Given the description of an element on the screen output the (x, y) to click on. 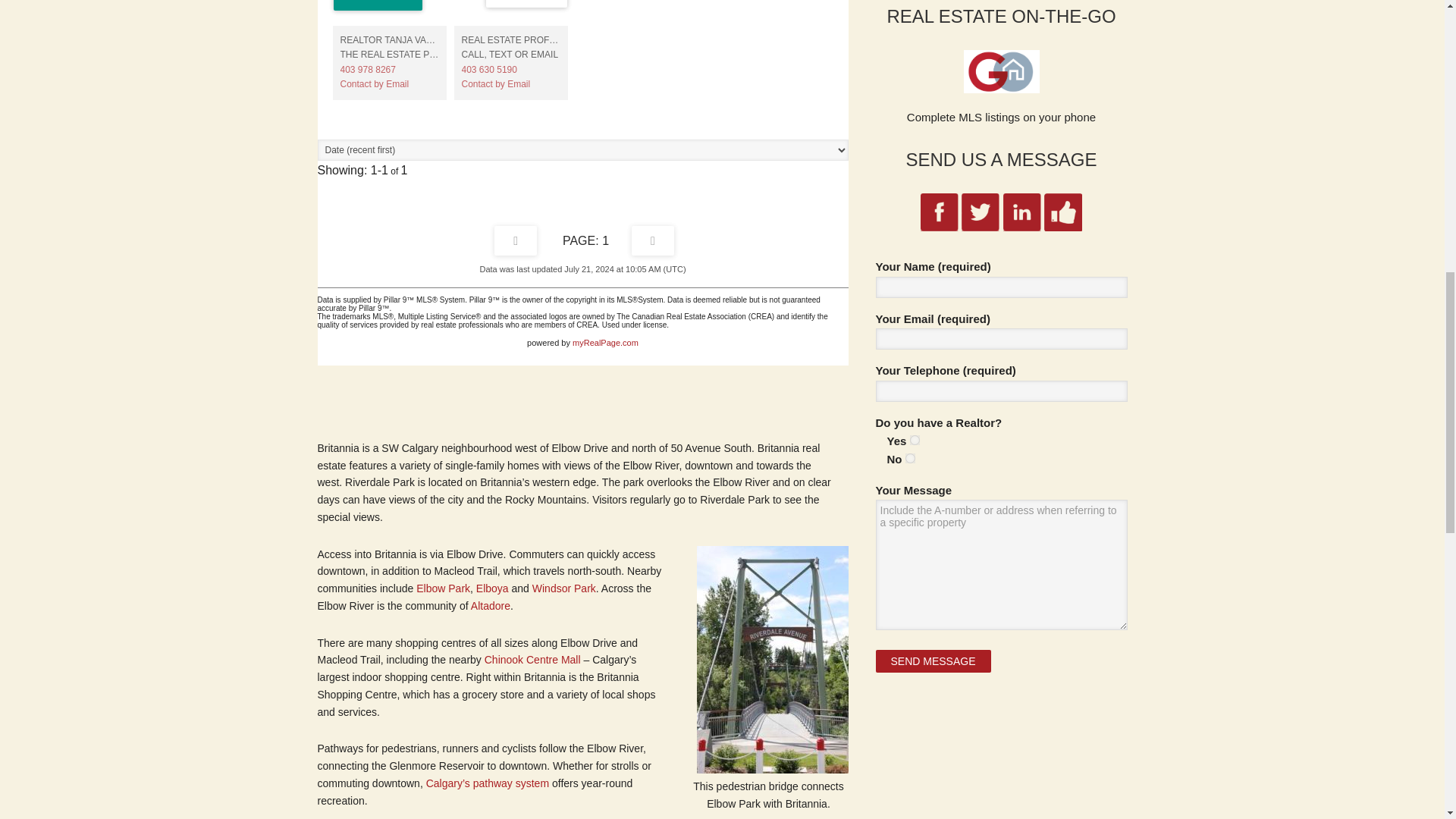
Page 1 (516, 240)
Page 1 (652, 240)
Page 1 (585, 240)
No (910, 458)
Yes (915, 439)
Send Message (932, 661)
